Given the description of an element on the screen output the (x, y) to click on. 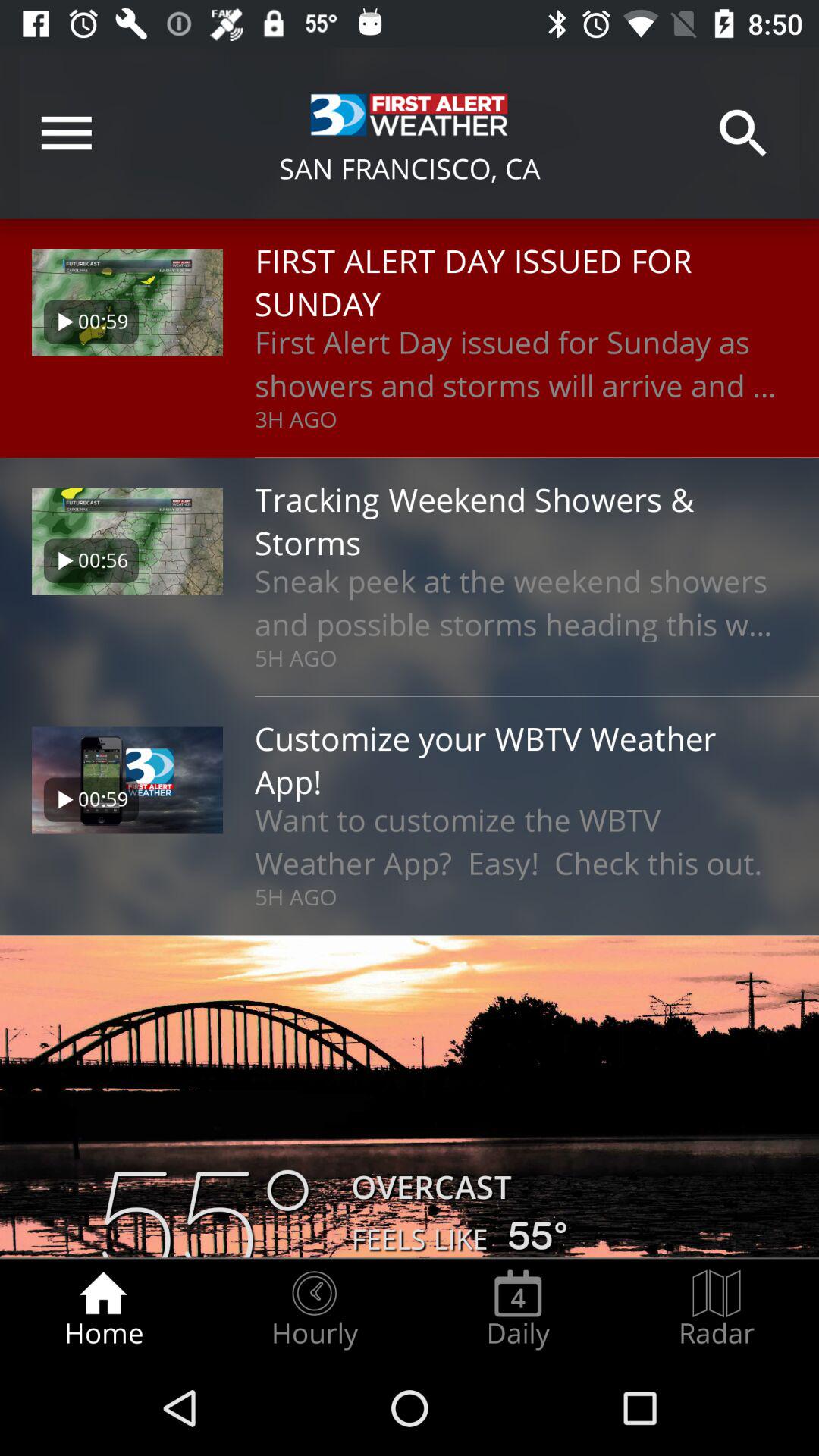
choose the home icon (103, 1309)
